Given the description of an element on the screen output the (x, y) to click on. 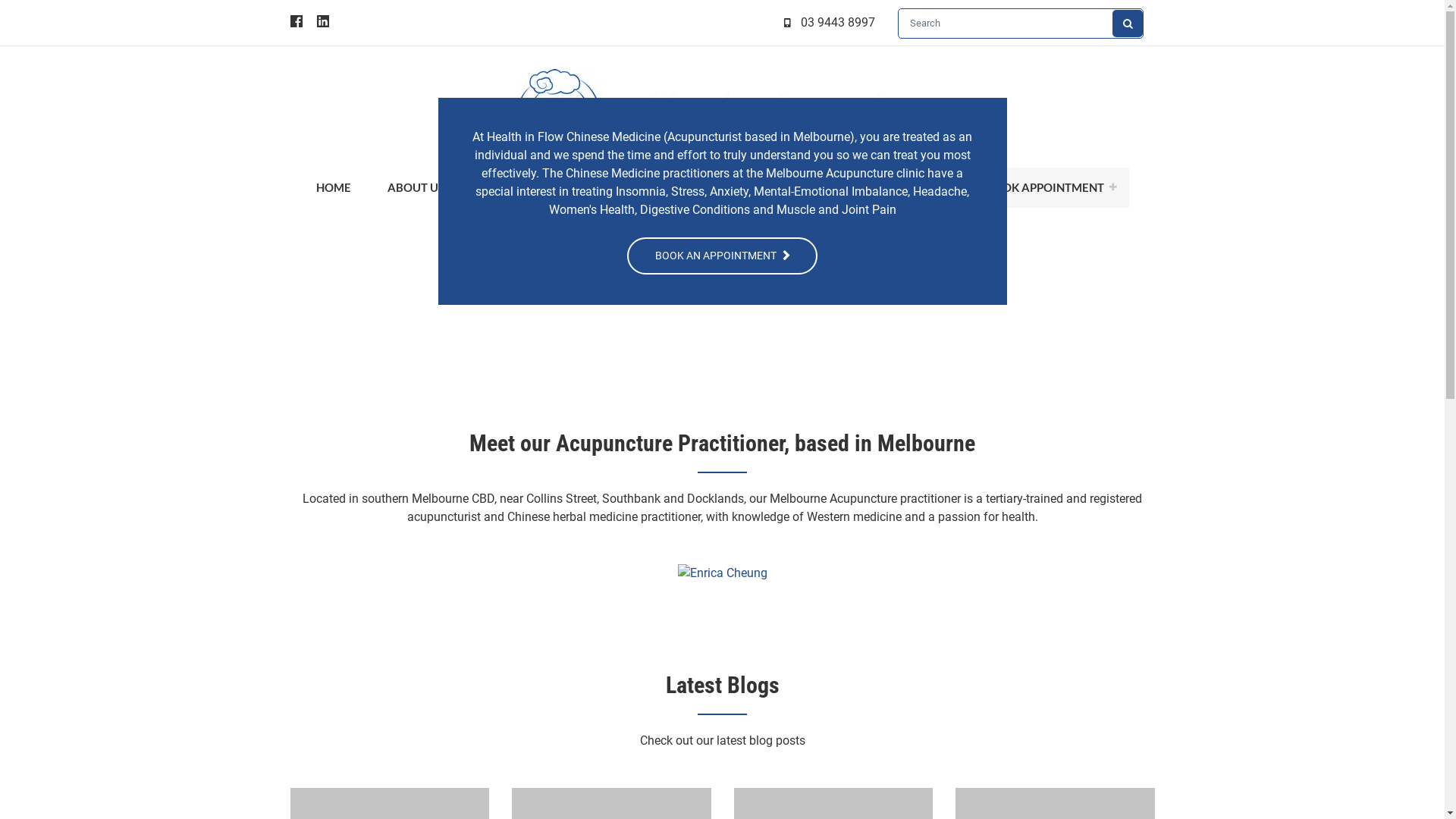
OUR BLOG Element type: text (843, 187)
BOOK APPOINTMENT Element type: text (1045, 187)
FAQS Element type: text (923, 187)
1 Element type: text (1410, 294)
ABOUT US Element type: text (422, 187)
CHINESE MEDICINE (ACUPUNCTURE) TREATMENT Element type: text (636, 187)
2 Element type: text (1410, 317)
03 9443 8997 Element type: text (837, 23)
BOOK AN APPOINTMENT Element type: text (722, 254)
HOME Element type: text (333, 187)
